Given the description of an element on the screen output the (x, y) to click on. 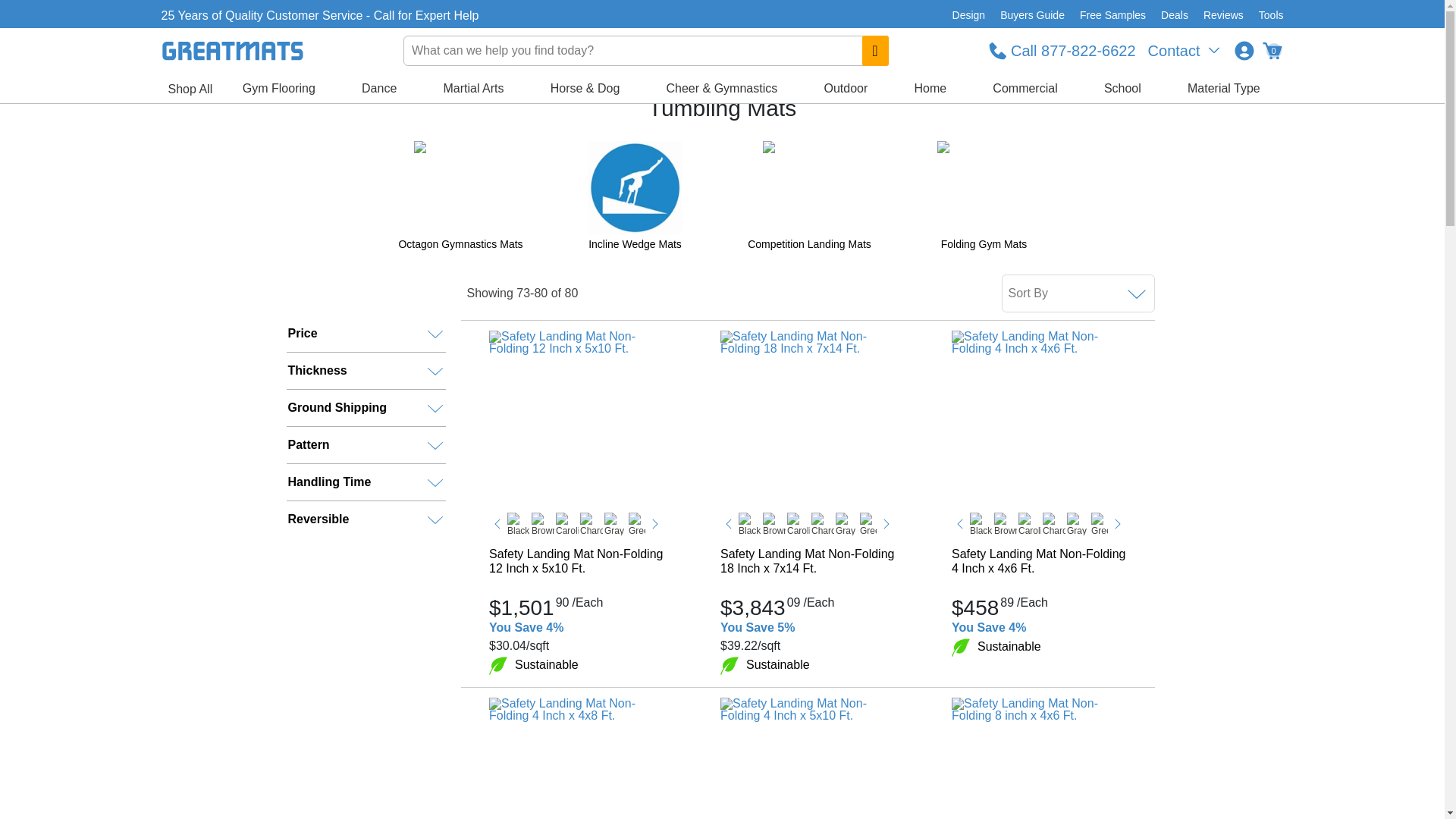
Free Samples (1112, 15)
Design (968, 15)
0 (1271, 50)
Contact (1184, 50)
Call 877-822-6622 (1061, 50)
Buyers Guide (1031, 15)
Greatmats (300, 78)
Reviews (1222, 15)
Tools (1267, 15)
Shop All (189, 89)
